Given the description of an element on the screen output the (x, y) to click on. 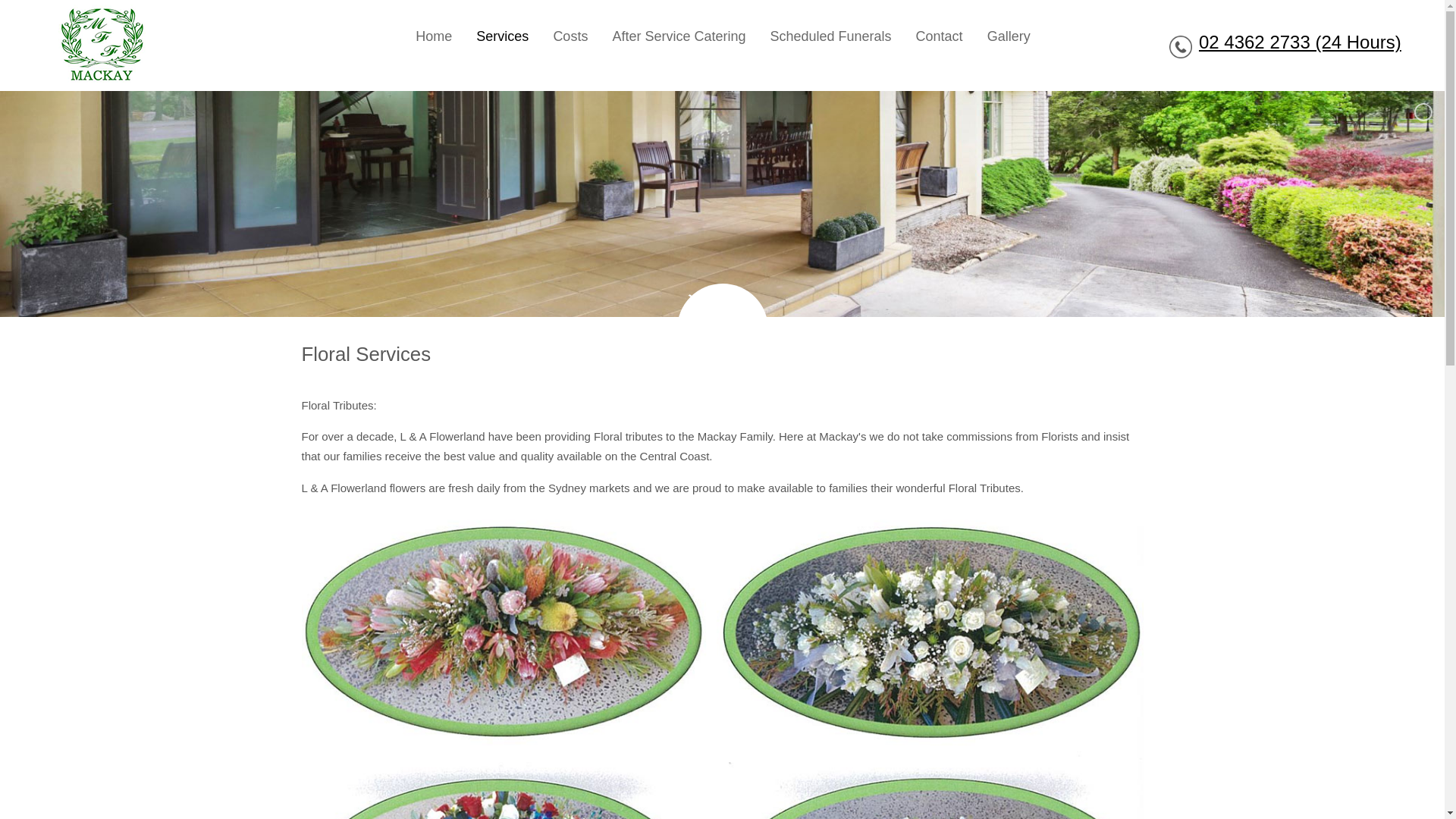
After Service Catering Element type: text (678, 36)
Home Element type: text (433, 36)
02 4362 2733 (24 Hours) Element type: text (1299, 41)
Contact Element type: text (939, 36)
Scheduled Funerals Element type: text (830, 36)
Costs Element type: text (570, 36)
Services Element type: text (501, 36)
Gallery Element type: text (1008, 36)
